Given the description of an element on the screen output the (x, y) to click on. 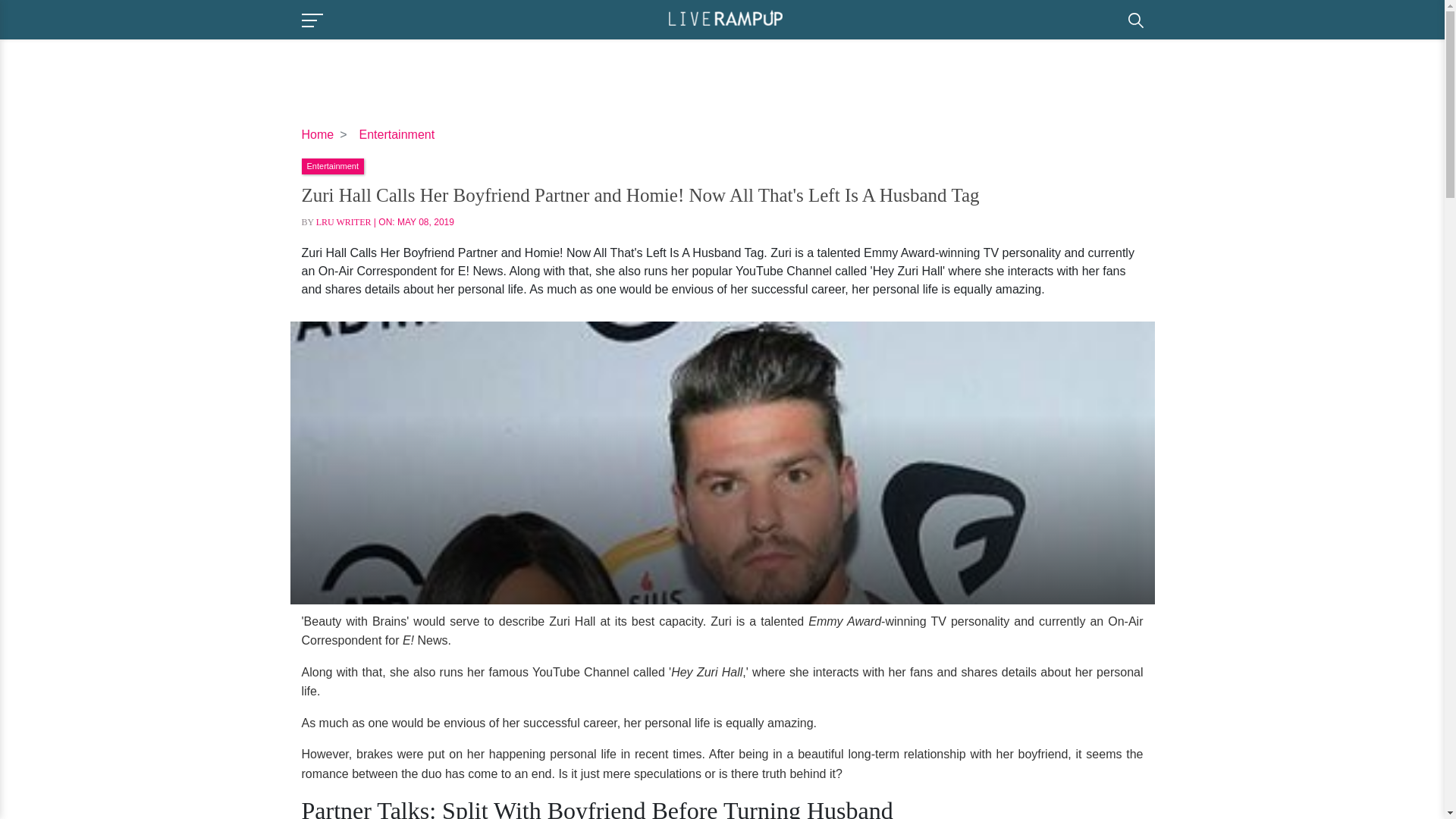
Entertainment (332, 164)
Liverampup (725, 17)
LRU WRITER (343, 222)
Home (317, 133)
Entertainment (397, 133)
